Given the description of an element on the screen output the (x, y) to click on. 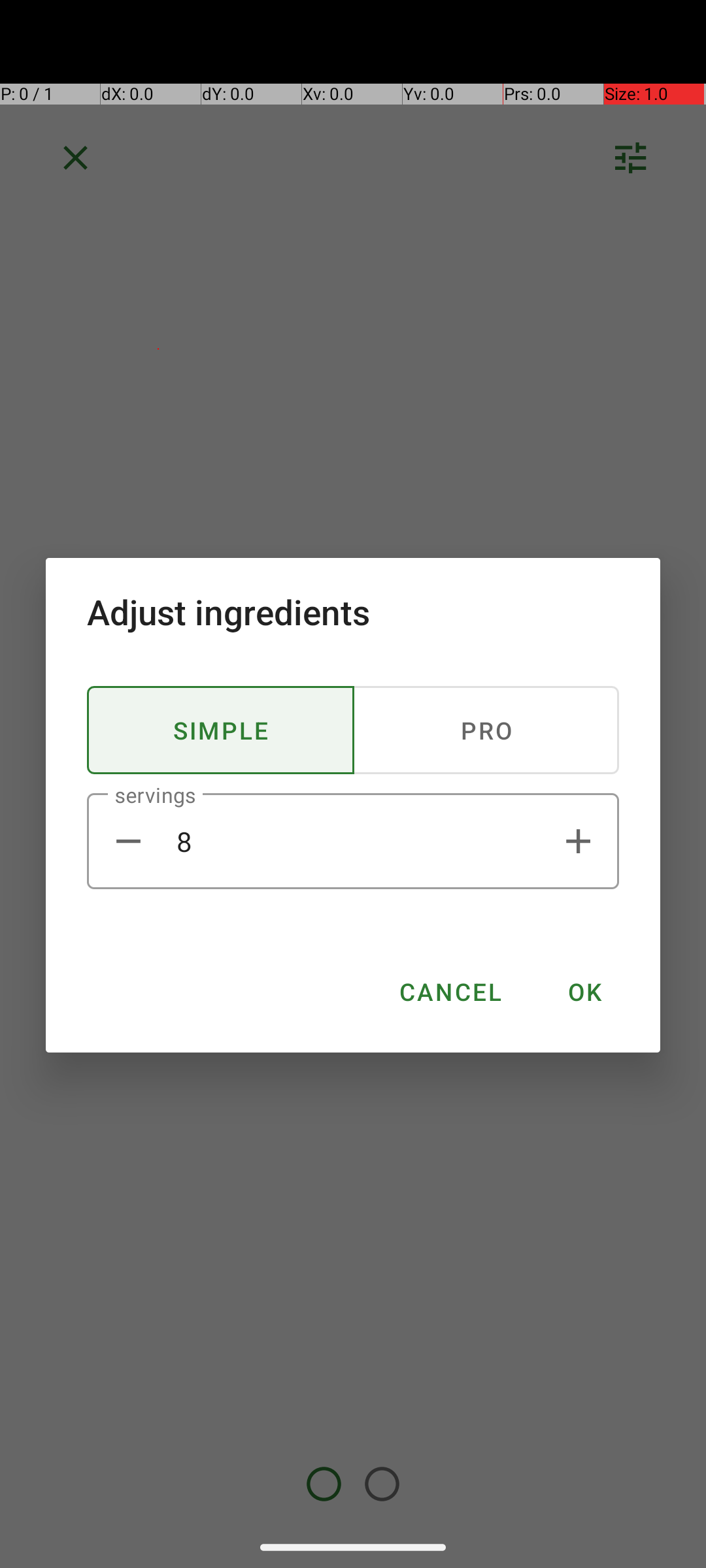
Adjust ingredients Element type: android.widget.TextView (352, 611)
SIMPLE Element type: android.widget.CompoundButton (220, 730)
PRO Element type: android.widget.CompoundButton (485, 730)
